Given the description of an element on the screen output the (x, y) to click on. 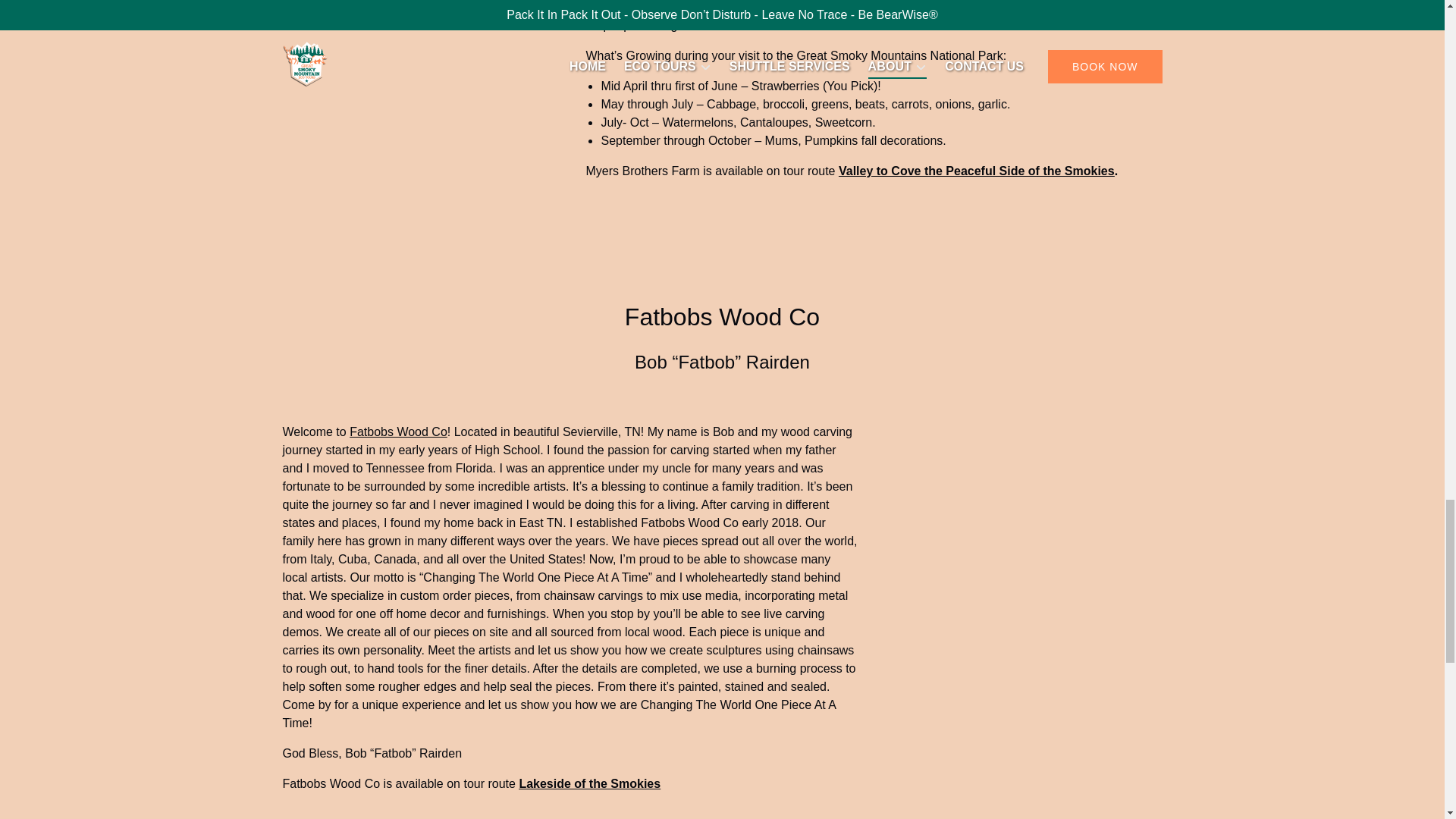
Fatbobs Wood Co (397, 431)
Fatbobs Wood Co (721, 316)
Lakeside of the Smokies (589, 783)
Valley to Cove the Peaceful Side of the Smokies (976, 170)
